Given the description of an element on the screen output the (x, y) to click on. 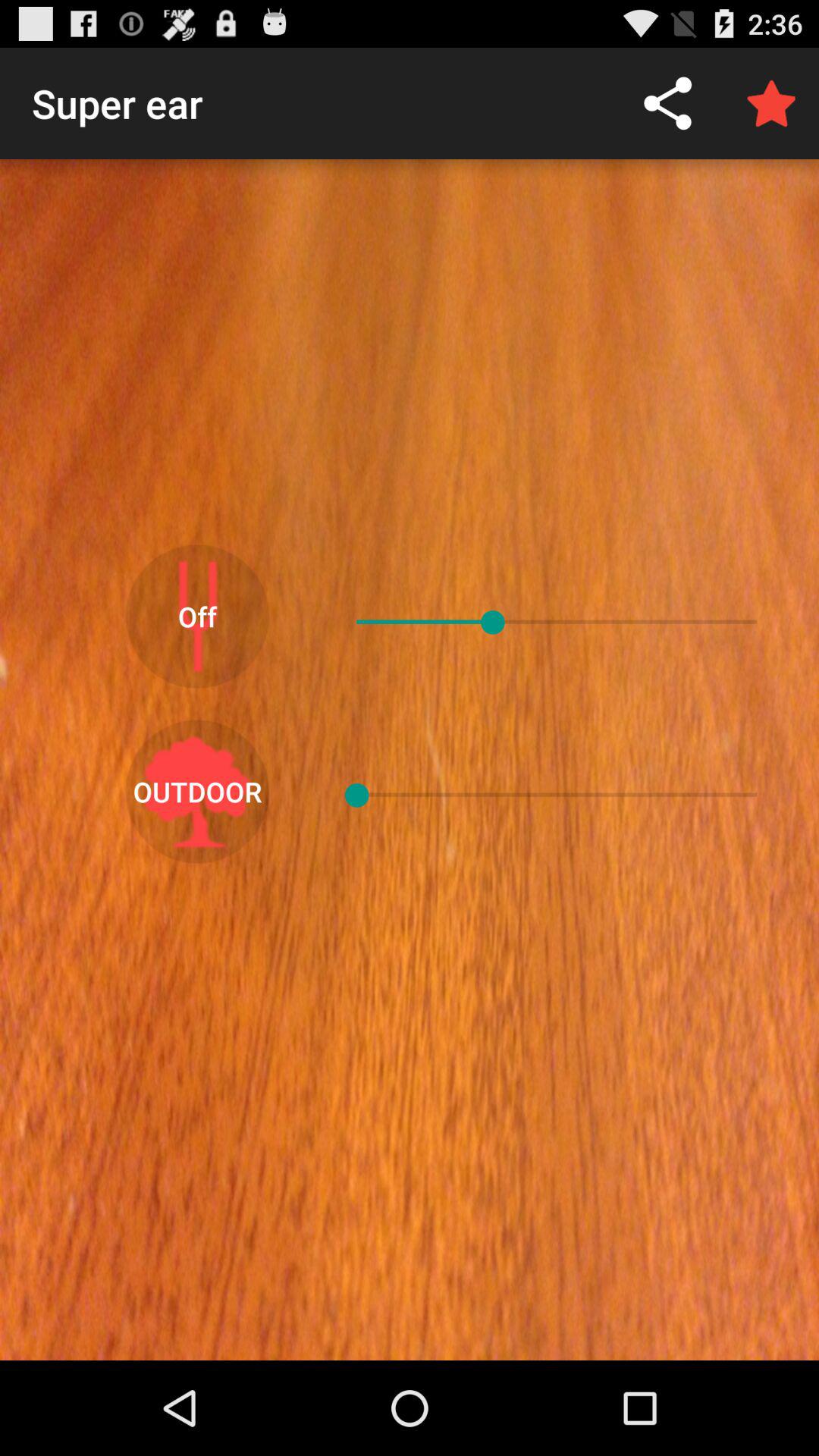
swipe to outdoor icon (196, 791)
